Given the description of an element on the screen output the (x, y) to click on. 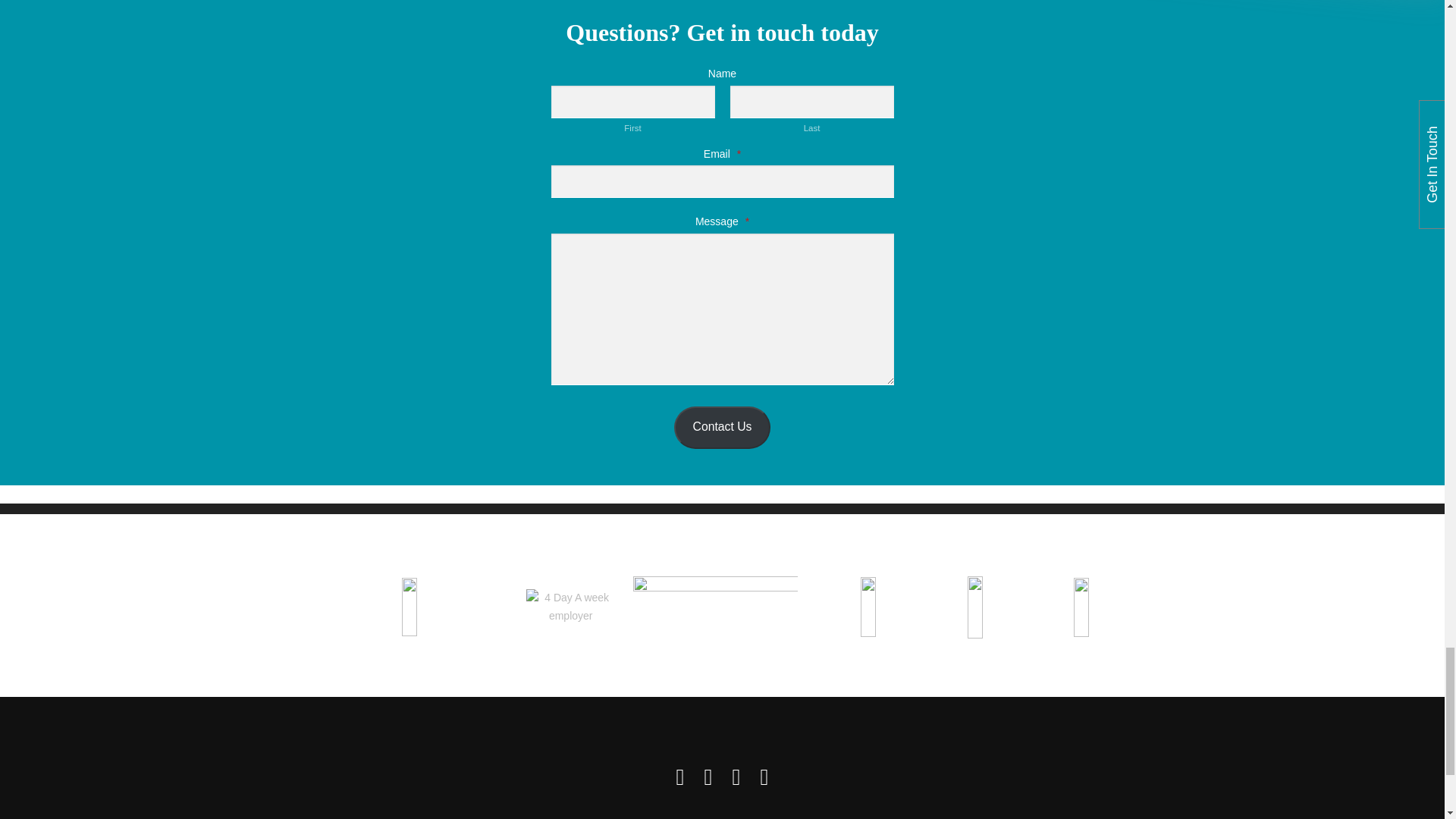
Contact Us (722, 427)
